Given the description of an element on the screen output the (x, y) to click on. 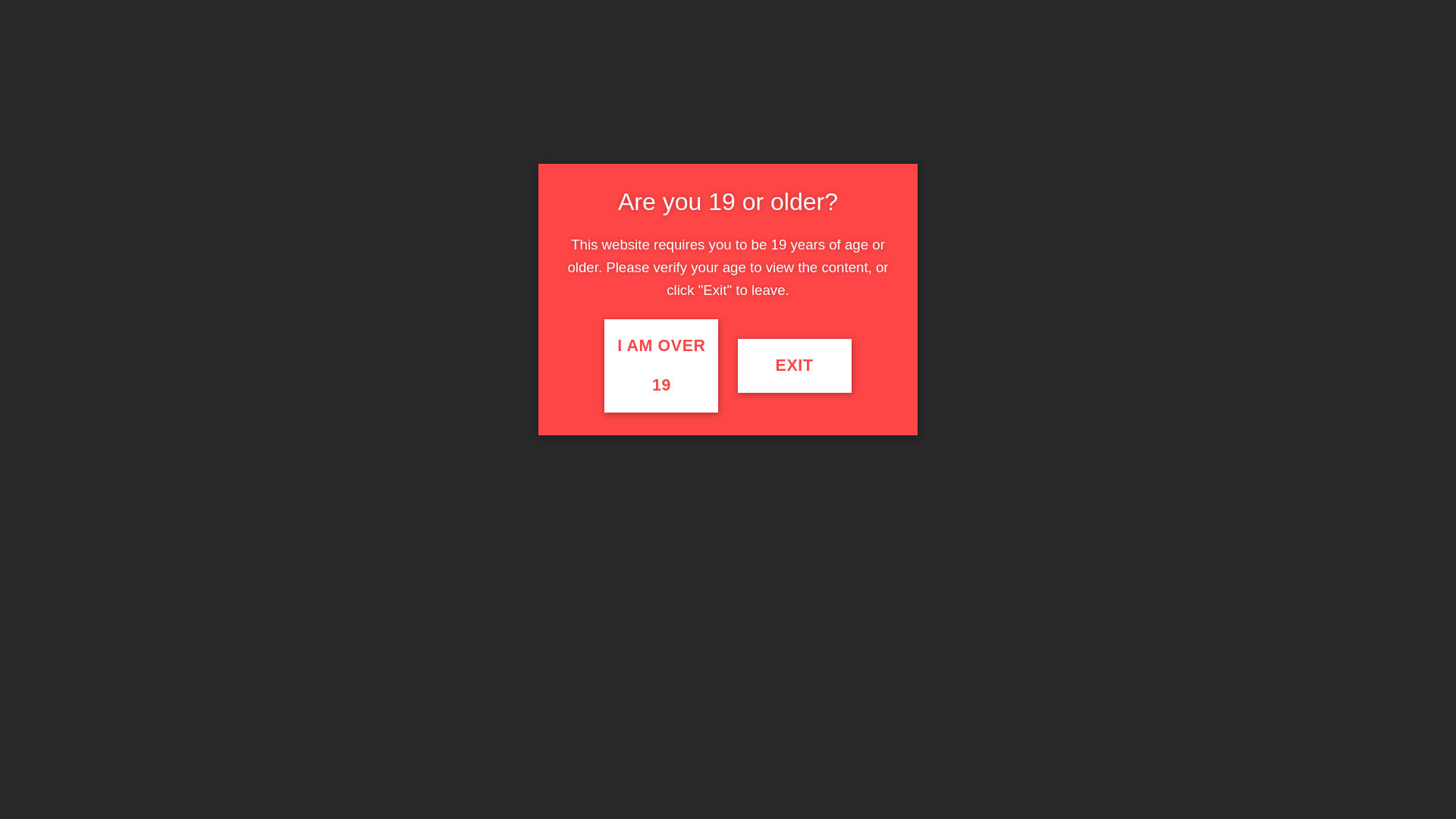
BLOG Element type: text (971, 144)
Dismiss Element type: text (861, 12)
BC Chronic Bud - Mail Order Marijuana | Buy Weed Online Element type: hover (369, 84)
Kaya Labs Element type: text (852, 215)
CART / $0.00 Element type: text (1081, 84)
Candies Element type: text (859, 686)
LOGIN / REGISTER Element type: text (971, 84)
SHOP Element type: text (348, 144)
REVIEW PROGRAM Element type: text (898, 144)
I AM OVER 19 Element type: text (661, 365)
Checkout Element type: text (1061, 38)
Home Element type: text (752, 215)
My account Element type: text (998, 38)
FAQ Element type: text (830, 144)
TRACK YOUR ORDER Element type: text (702, 84)
FLOWERS Element type: text (409, 144)
Cart Element type: text (1108, 38)
CBD Element type: text (628, 144)
Search Element type: text (562, 84)
Kaya Labs Element type: text (783, 709)
REFER A FRIEND Element type: text (837, 84)
Vendor Element type: text (797, 215)
ACCESSORIES Element type: text (773, 144)
Kaya 16 Element type: hover (522, 457)
Kaya Labs Element type: text (942, 686)
Edibles Element type: text (898, 686)
CLOSE THIS MODULE Element type: text (1019, 156)
Qty Element type: hover (771, 601)
MUSHROOMS Element type: text (687, 144)
EDIBLES Element type: text (476, 144)
ADD TO CART Element type: text (881, 601)
Win Gift Card Element type: text (879, 534)
CONCENTRATES Element type: text (560, 144)
EXIT Element type: text (794, 365)
All Edibles Element type: text (813, 686)
